Given the description of an element on the screen output the (x, y) to click on. 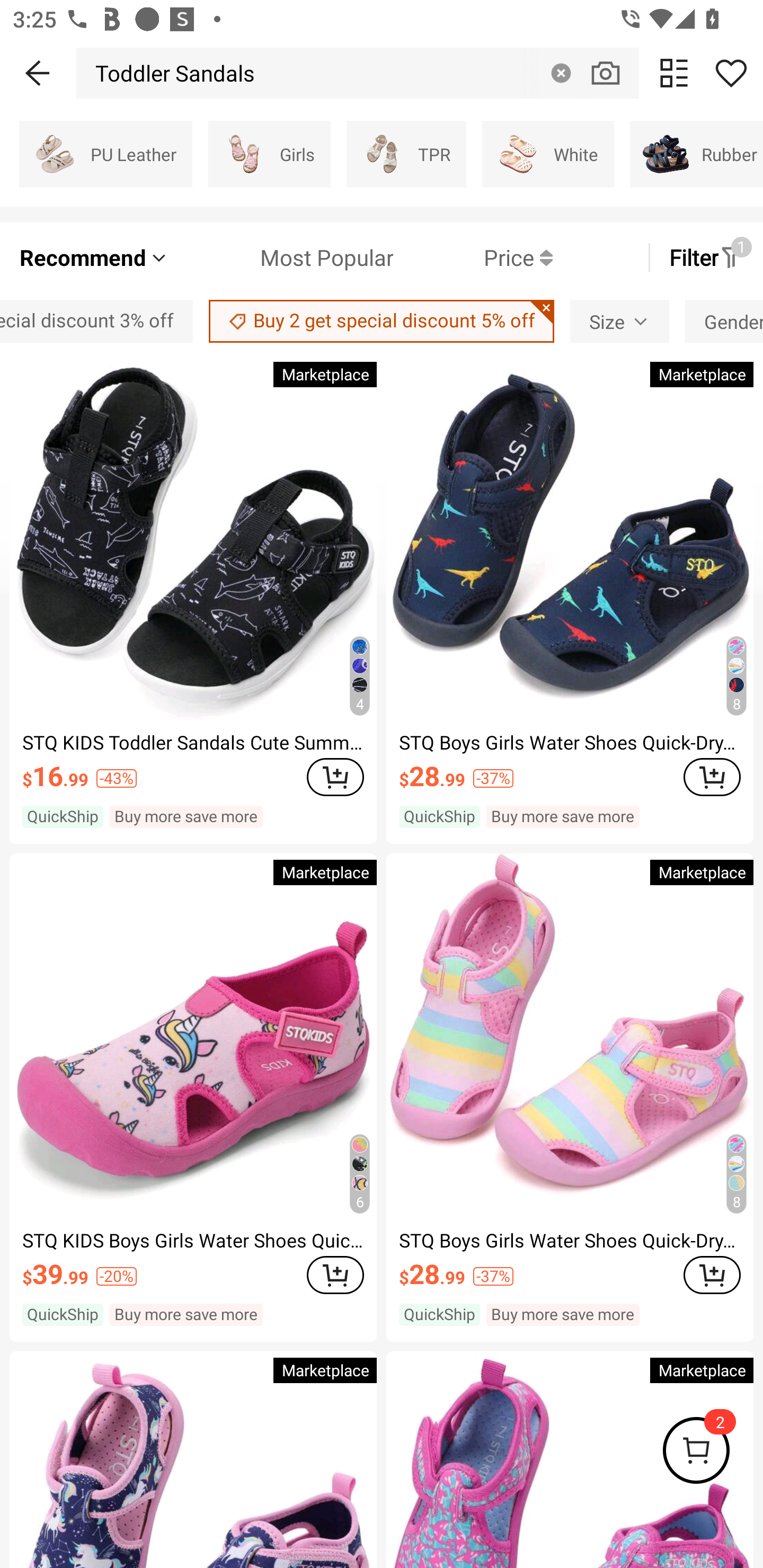
Toddler Sandals (170, 72)
Clear (560, 72)
change view (673, 72)
Share (730, 72)
PU Leather (105, 154)
Girls (269, 154)
TPR (406, 154)
White (548, 154)
Rubber (696, 154)
Recommend (94, 256)
Most Popular (280, 256)
Price (472, 256)
Filter 1 (705, 256)
Buy 2 get special discount 3% off (96, 321)
Buy 2 get special discount 5% off (381, 321)
Size (619, 321)
ADD TO CART (334, 776)
ADD TO CART (711, 776)
ADD TO CART (334, 1274)
ADD TO CART (711, 1274)
